Given the description of an element on the screen output the (x, y) to click on. 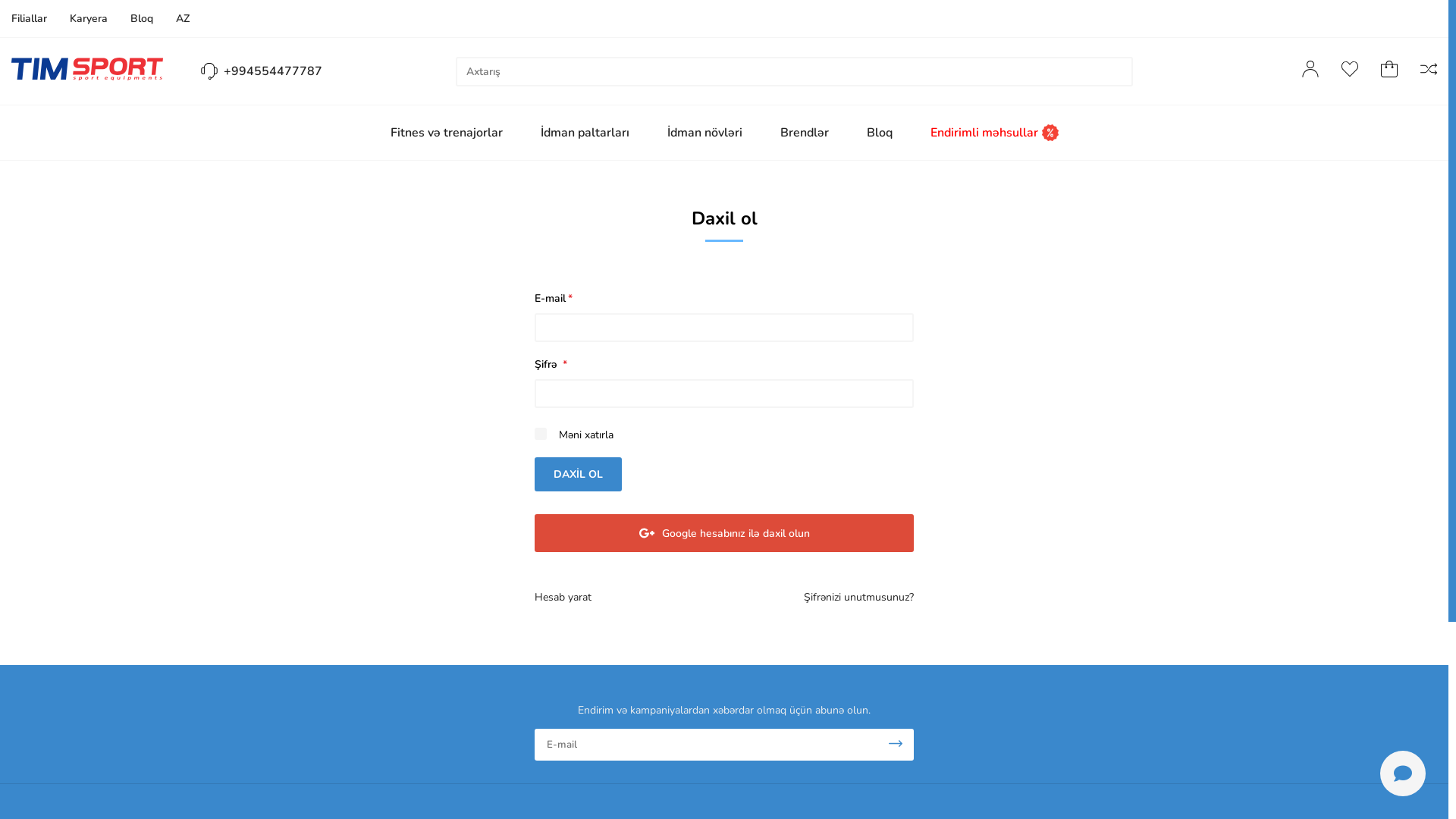
+994554477787 Element type: text (261, 70)
AZ Element type: text (182, 18)
DAXIL OL Element type: text (577, 474)
Bloq Element type: text (878, 132)
Karyera Element type: text (88, 18)
Hesab yarat Element type: text (562, 596)
Bloq Element type: text (141, 18)
Filiallar Element type: text (29, 18)
